Given the description of an element on the screen output the (x, y) to click on. 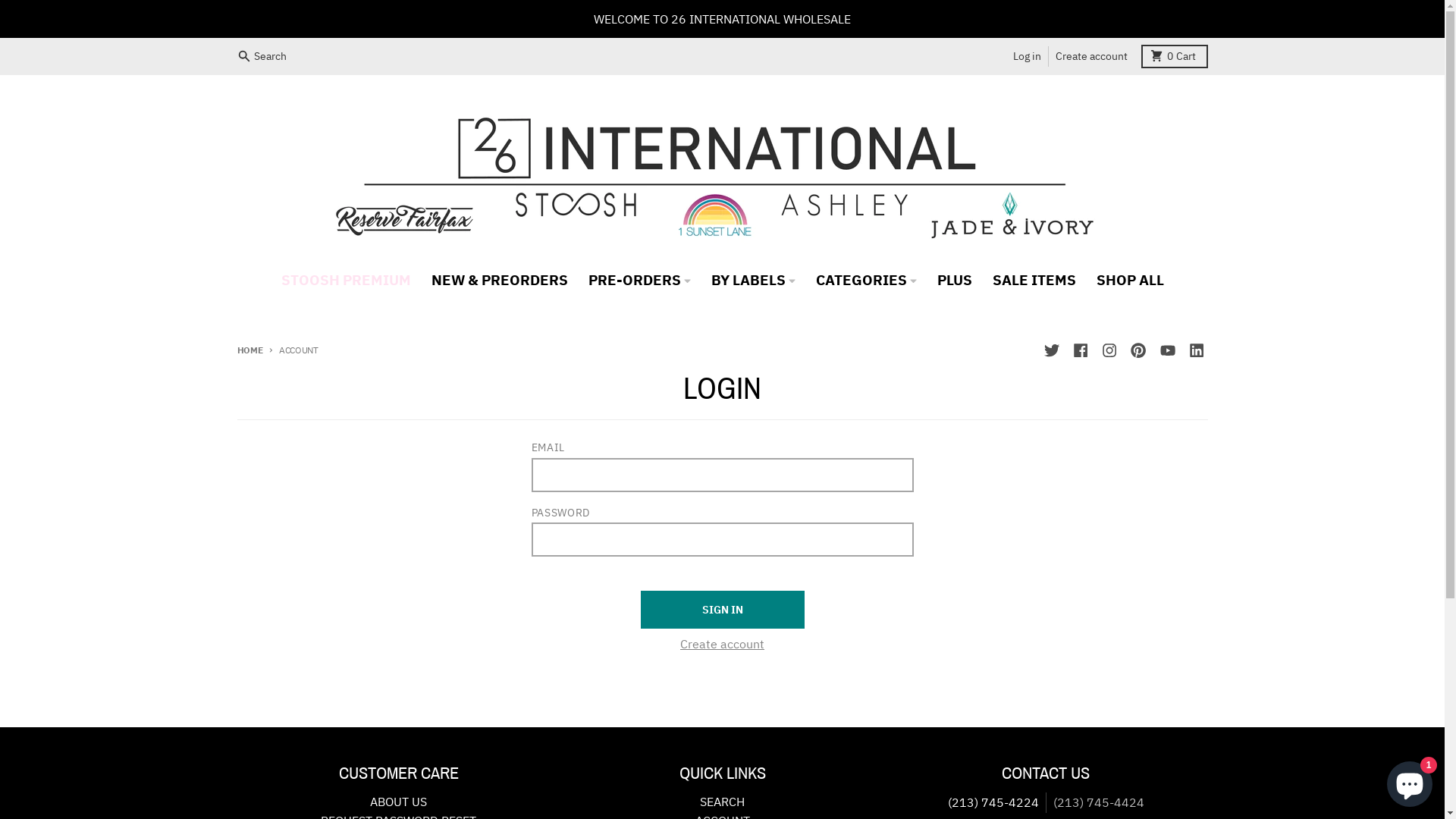
Instagram - 26 International Element type: hover (1109, 350)
YouTube - 26 International Element type: hover (1167, 350)
NEW & PREORDERS Element type: text (498, 278)
Pinterest - 26 International Element type: hover (1138, 350)
PLUS Element type: text (954, 278)
Log in Element type: text (1027, 55)
Twitter - 26 International Element type: hover (1051, 350)
ABOUT US Element type: text (398, 801)
Facebook - 26 International Element type: hover (1080, 350)
SALE ITEMS Element type: text (1033, 278)
0
Cart Element type: text (1174, 55)
SEARCH Element type: text (721, 801)
SIGN IN Element type: text (721, 609)
SHOP ALL Element type: text (1129, 278)
LinkedIn - 26 International Element type: hover (1196, 350)
HOME Element type: text (249, 349)
Create account Element type: text (1091, 55)
(213) 745-4224 Element type: text (992, 801)
STOOSH PREMIUM Element type: text (345, 278)
Create account Element type: text (722, 643)
Search Element type: text (263, 55)
Shopify online store chat Element type: hover (1409, 780)
